Given the description of an element on the screen output the (x, y) to click on. 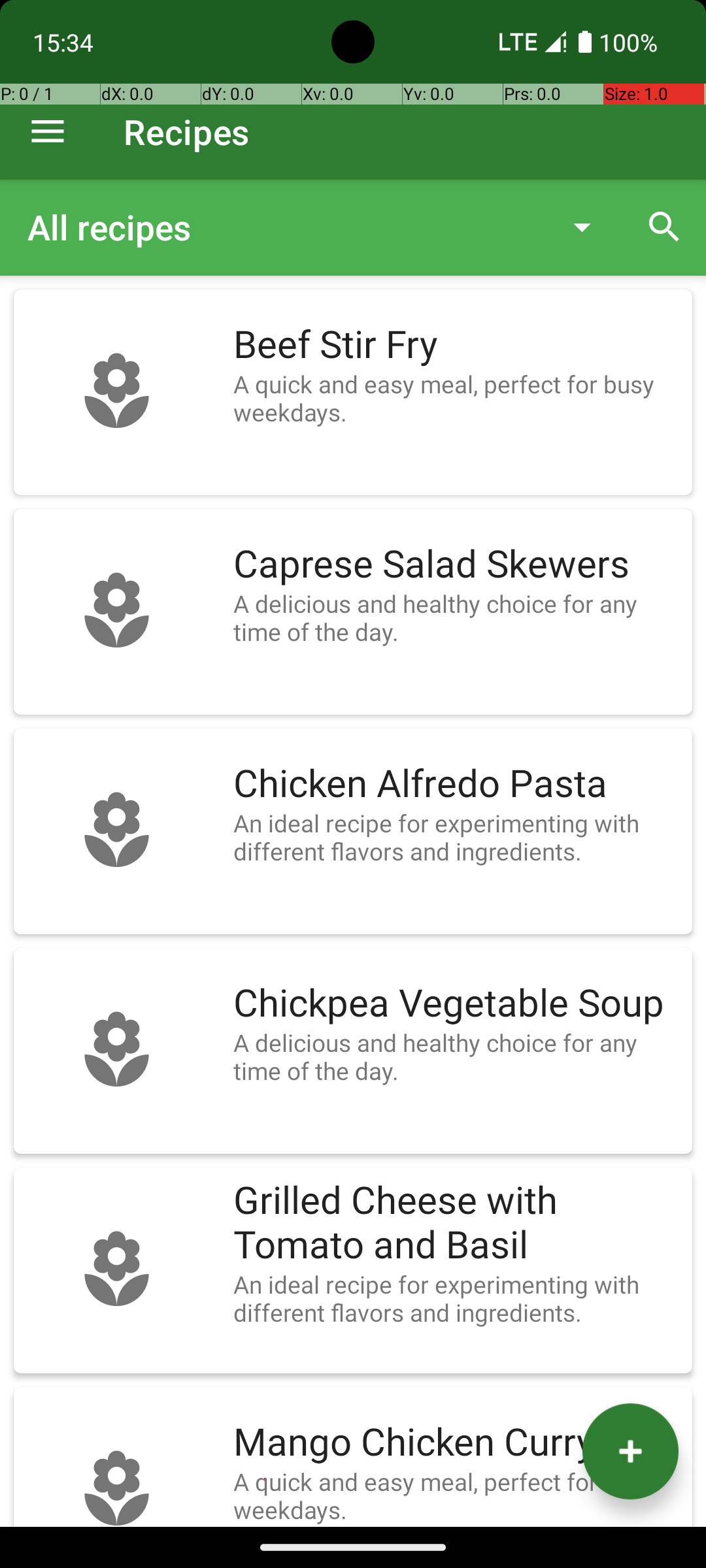
Mango Chicken Curry Element type: android.widget.TextView (455, 1442)
